Given the description of an element on the screen output the (x, y) to click on. 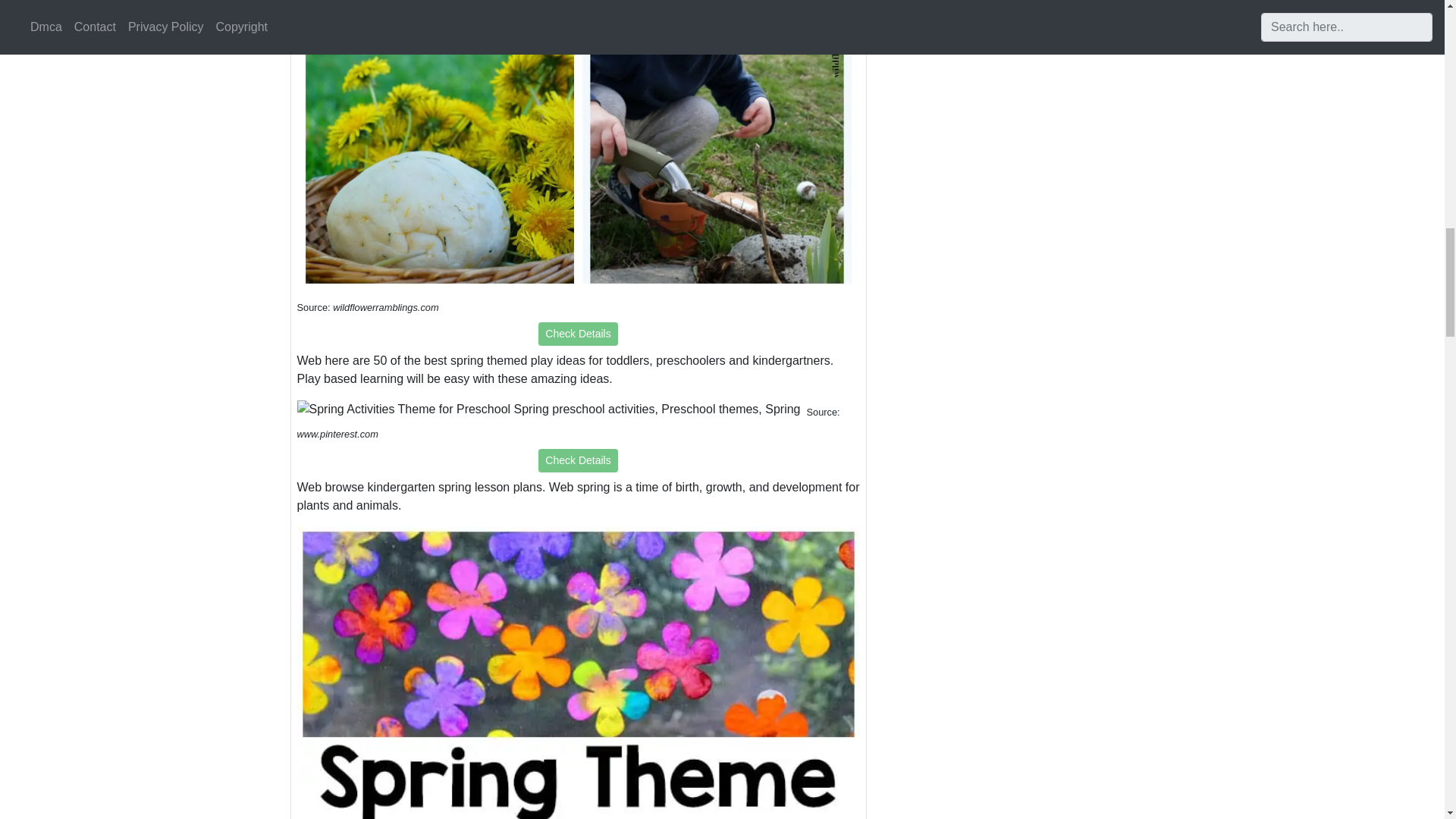
Check Details (577, 333)
Check Details (577, 460)
